Given the description of an element on the screen output the (x, y) to click on. 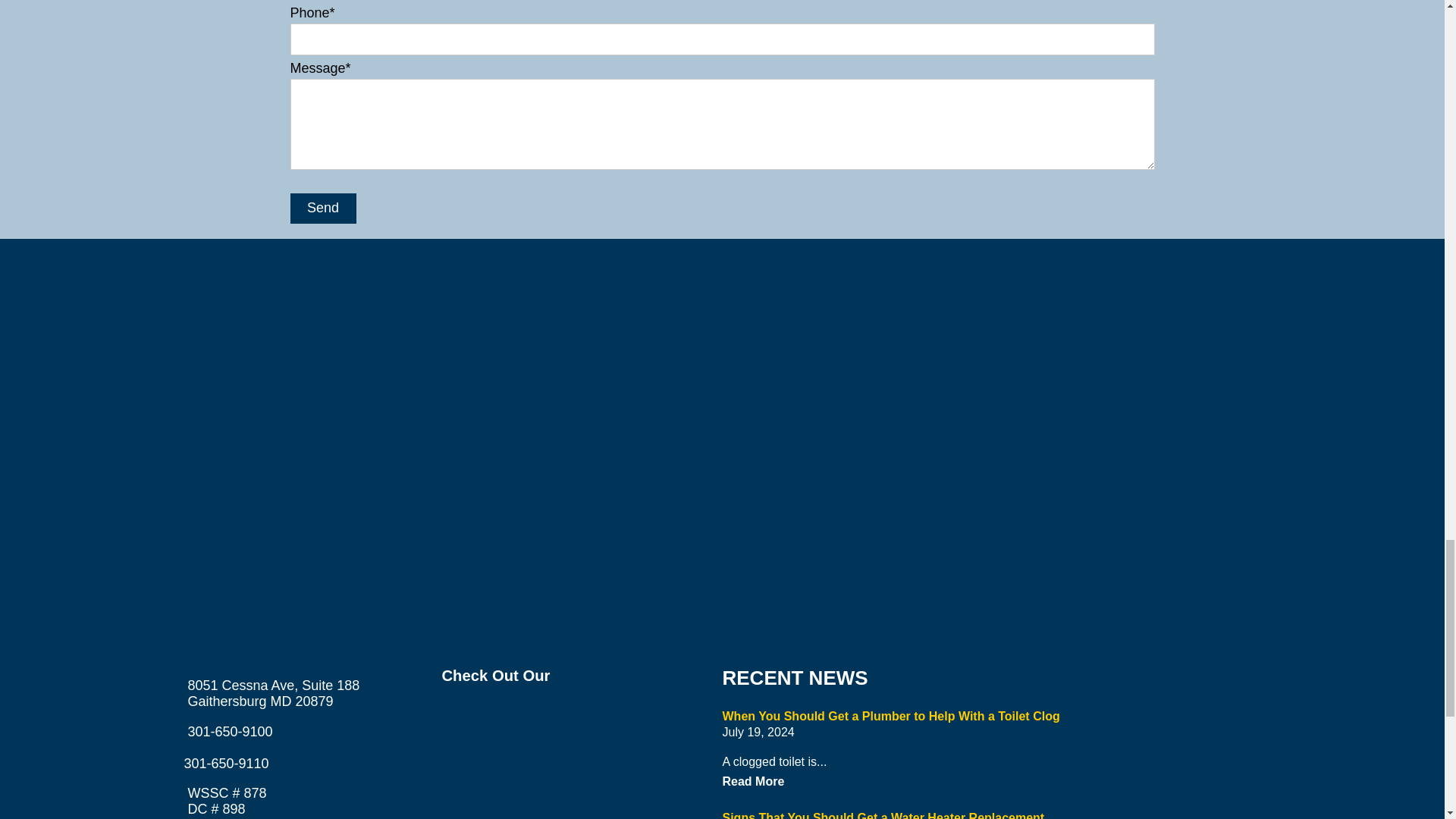
Send (322, 208)
